Given the description of an element on the screen output the (x, y) to click on. 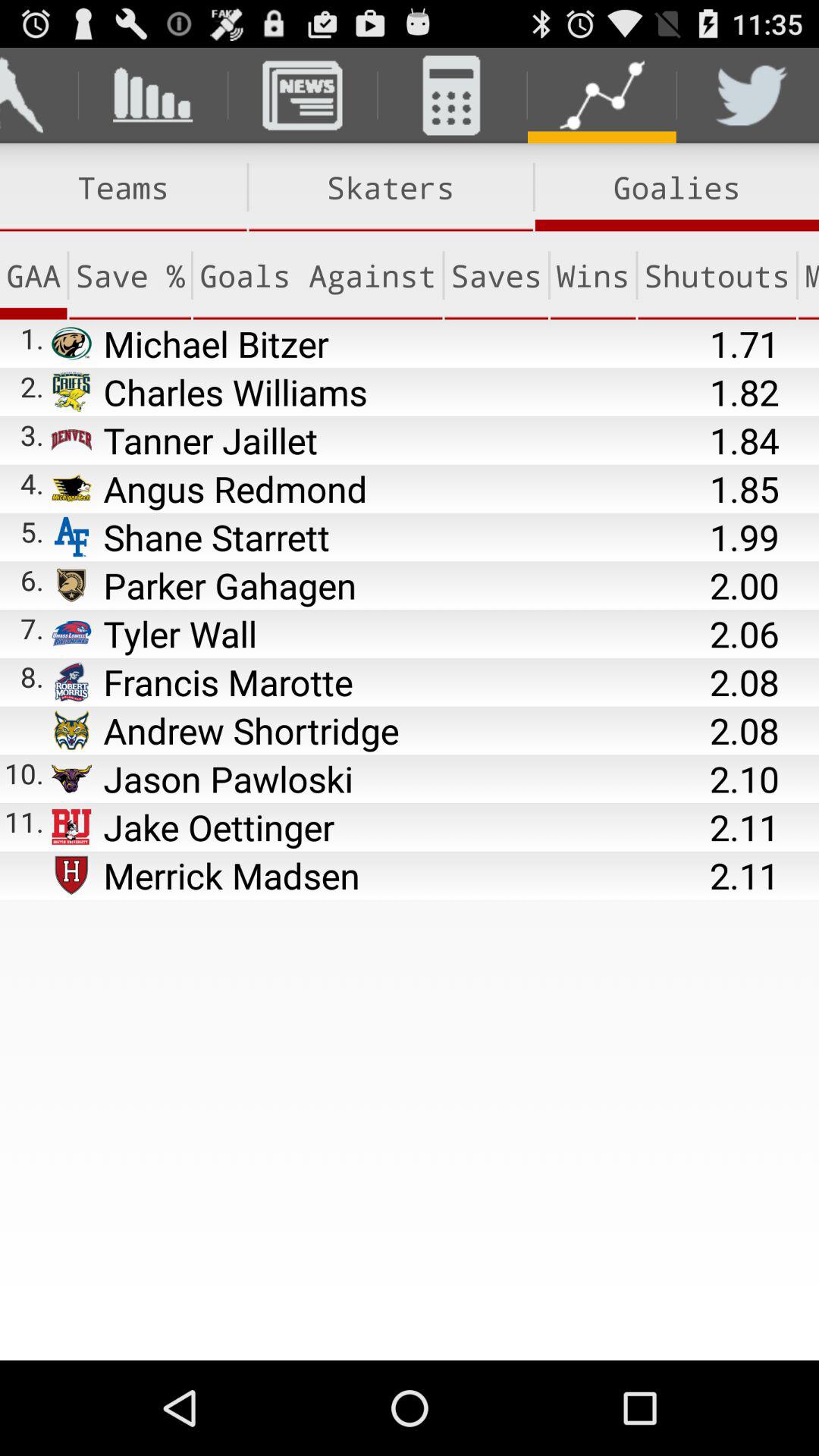
tap the gaa (33, 275)
